Given the description of an element on the screen output the (x, y) to click on. 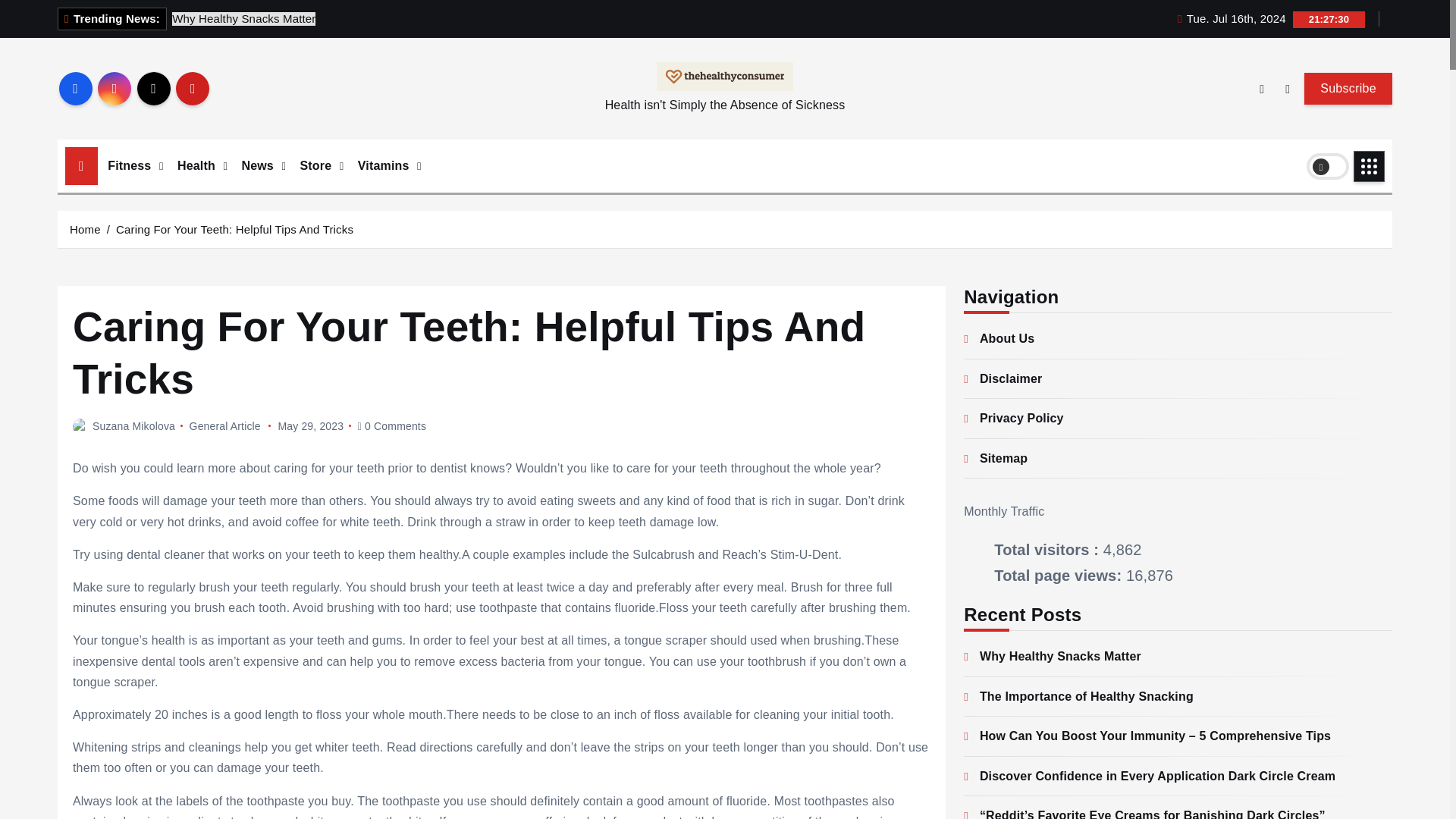
Subscribe (1347, 88)
Store (316, 166)
Fitness (130, 166)
Vitamins (384, 166)
Health (197, 166)
Store (316, 166)
News (258, 166)
Fitness (130, 166)
Health (197, 166)
News (258, 166)
